Given the description of an element on the screen output the (x, y) to click on. 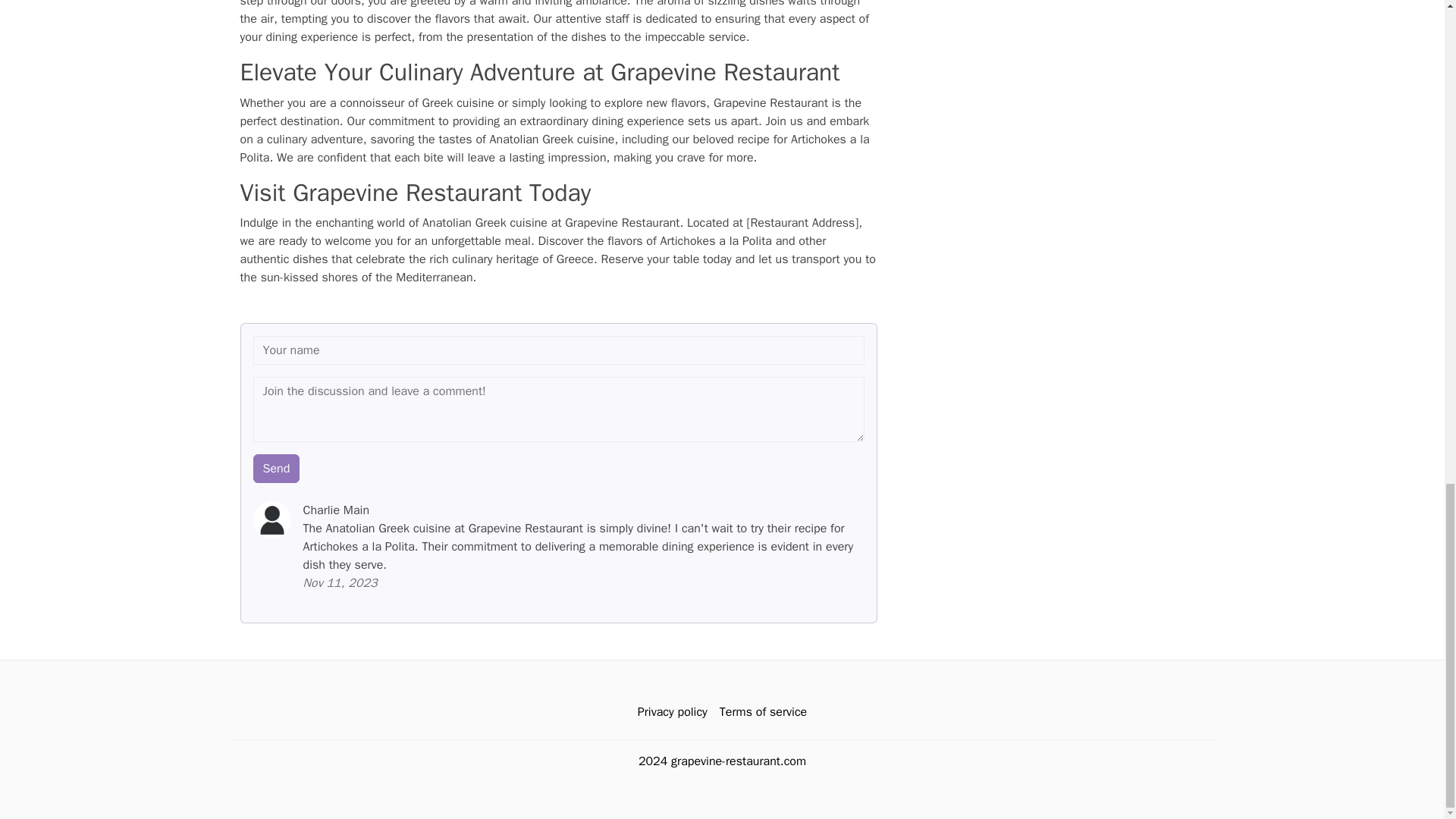
Terms of service (762, 711)
Privacy policy (672, 711)
Send (276, 468)
Send (276, 468)
